Given the description of an element on the screen output the (x, y) to click on. 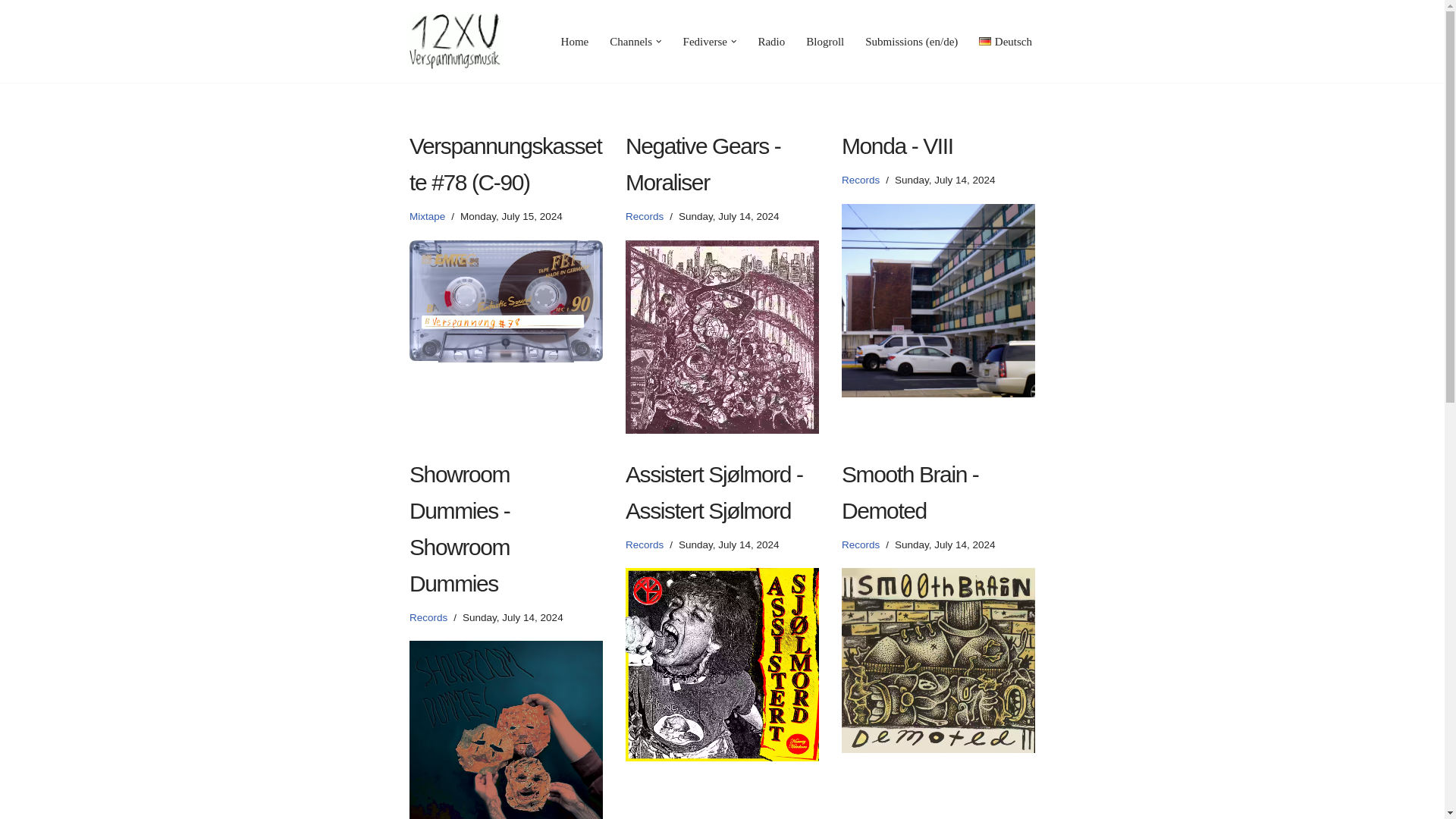
Blogroll (825, 40)
Mixtape (427, 215)
Negative Gears - Moraliser (703, 163)
Home (574, 40)
Skip to content (11, 31)
Smooth Brain - Demoted (938, 660)
Fediverse (704, 40)
Negative Gears - Moraliser (722, 337)
Channels (631, 40)
Radio (770, 40)
Monda - VIII (938, 300)
Showroom Dummies - Showroom Dummies (505, 729)
Deutsch (1005, 40)
